Given the description of an element on the screen output the (x, y) to click on. 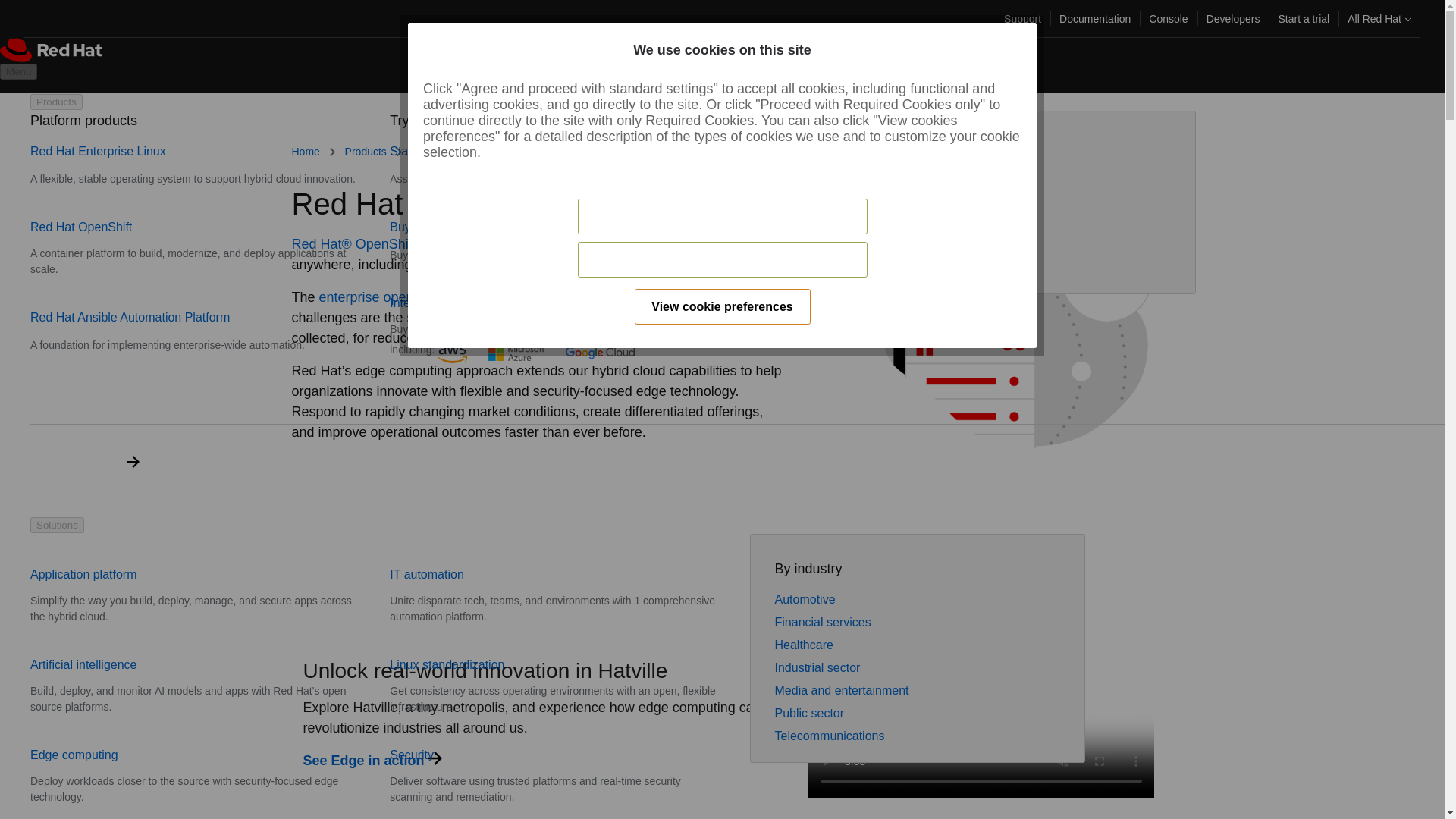
Start a trialAssess a product with a no-cost trial. (505, 165)
All Red Hat (1379, 18)
Start a trial (1303, 18)
Developers (1232, 18)
Console (1168, 18)
Documentation (1094, 18)
Support (1021, 18)
